Given the description of an element on the screen output the (x, y) to click on. 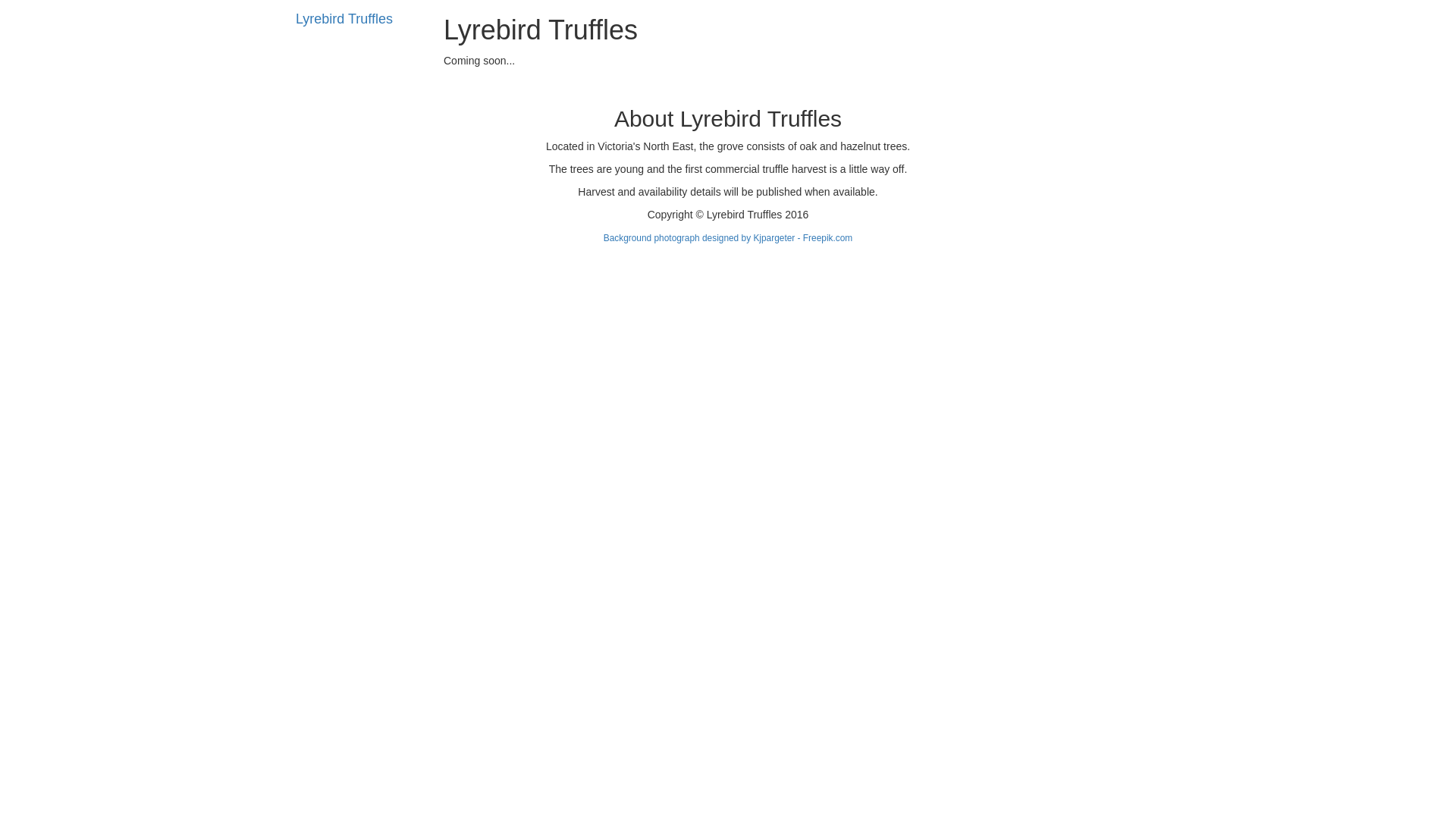
Background photograph designed by Kjpargeter - Freepik.com Element type: text (728, 237)
Lyrebird Truffles Element type: text (344, 18)
